Given the description of an element on the screen output the (x, y) to click on. 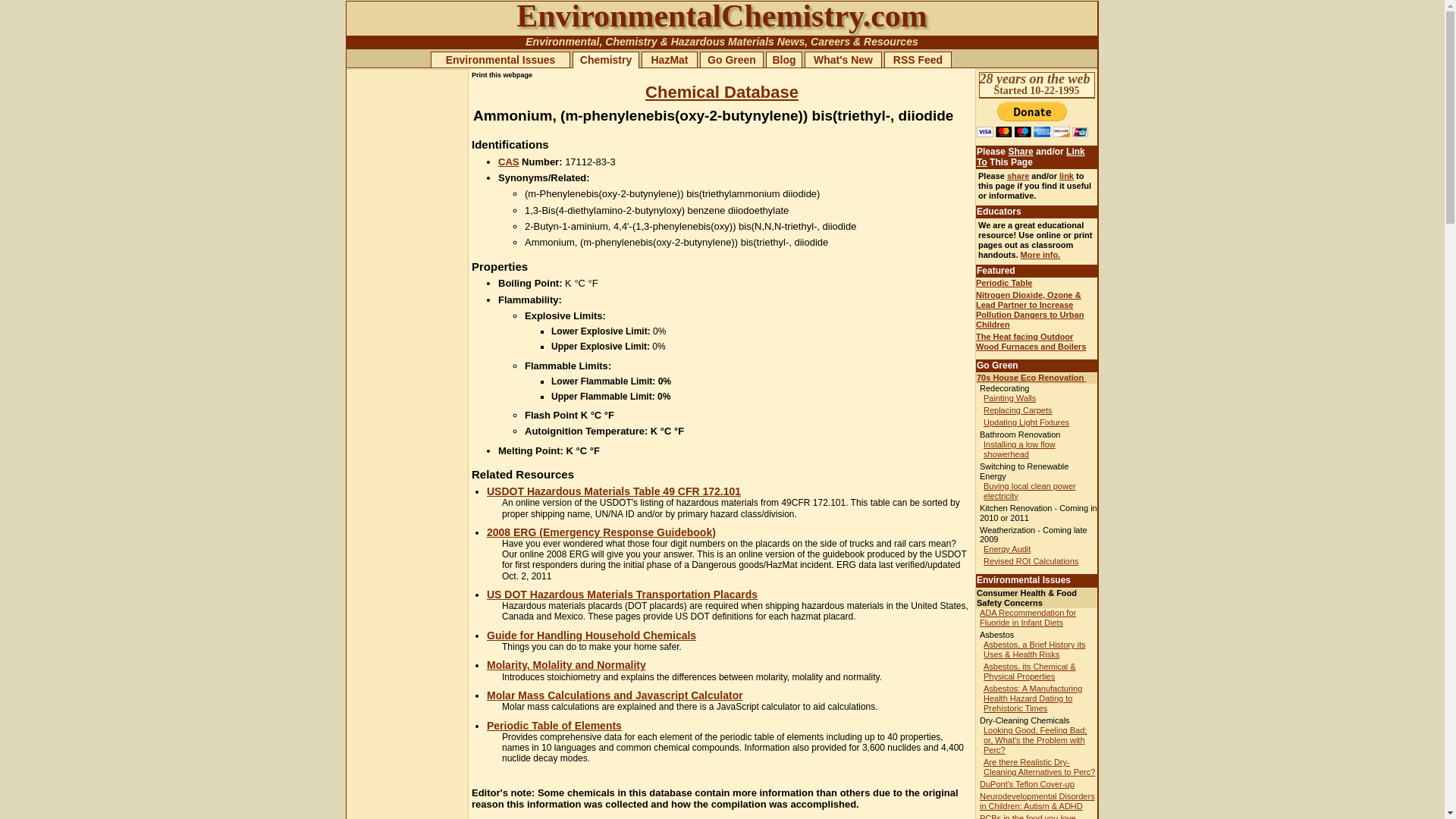
Hazardous materials and regulatory resources (722, 41)
Chemistry resources (630, 41)
Careers (830, 41)
Environmental Issues (500, 60)
EnvironmentalChemistry.com (721, 16)
Hazardous Materials (722, 41)
Environmental articles and resources (561, 41)
Environmental (561, 41)
Chemistry (630, 41)
